Given the description of an element on the screen output the (x, y) to click on. 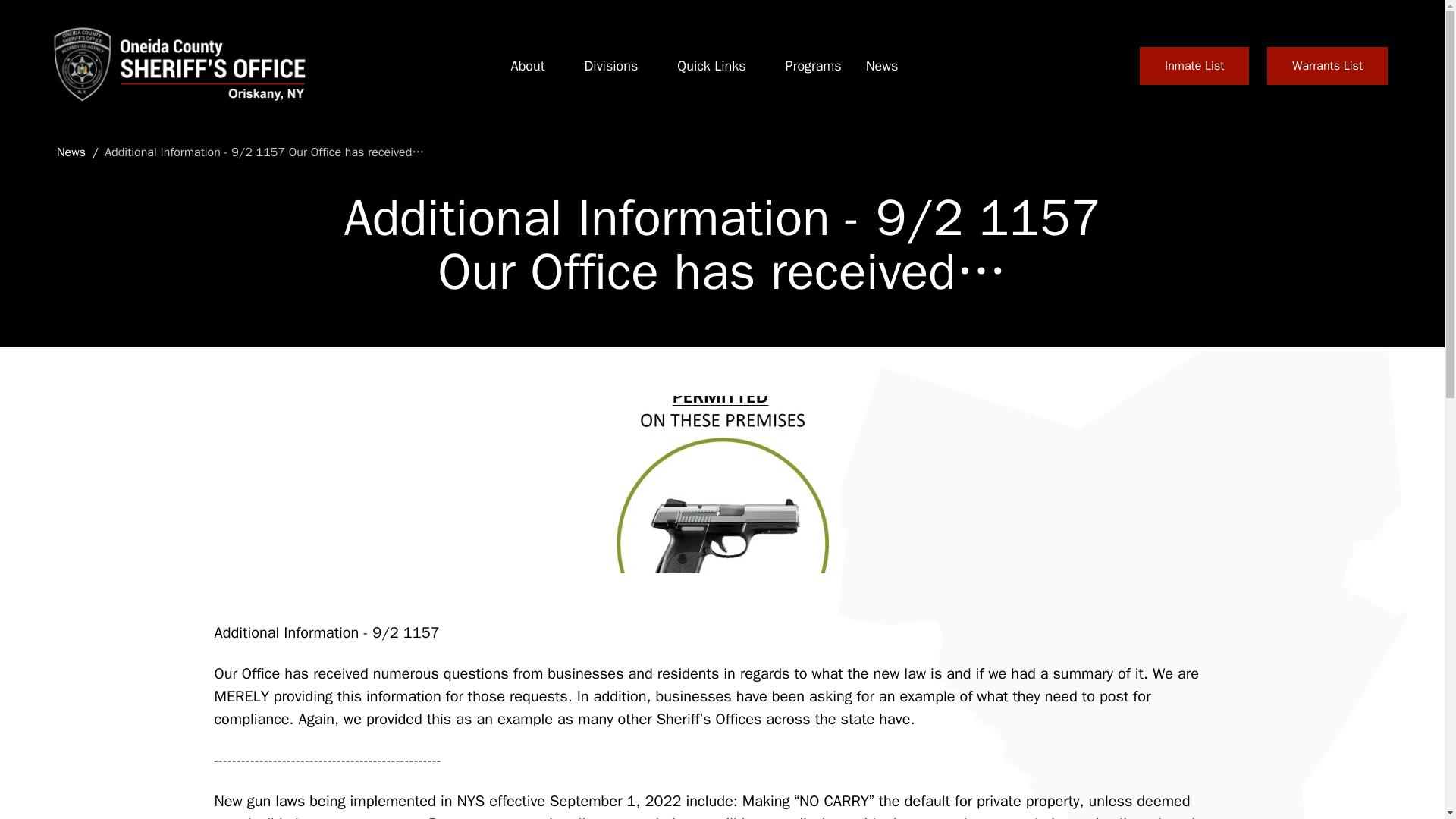
Divisions (610, 65)
About (527, 65)
Oneida County Sheriff's Office (177, 65)
Warrants List (1326, 65)
Quick Links (711, 65)
News (882, 65)
Open search form (1102, 65)
Programs (813, 65)
Divisions (610, 65)
About (527, 65)
Quick Links (711, 65)
Inmate List (1194, 65)
